Given the description of an element on the screen output the (x, y) to click on. 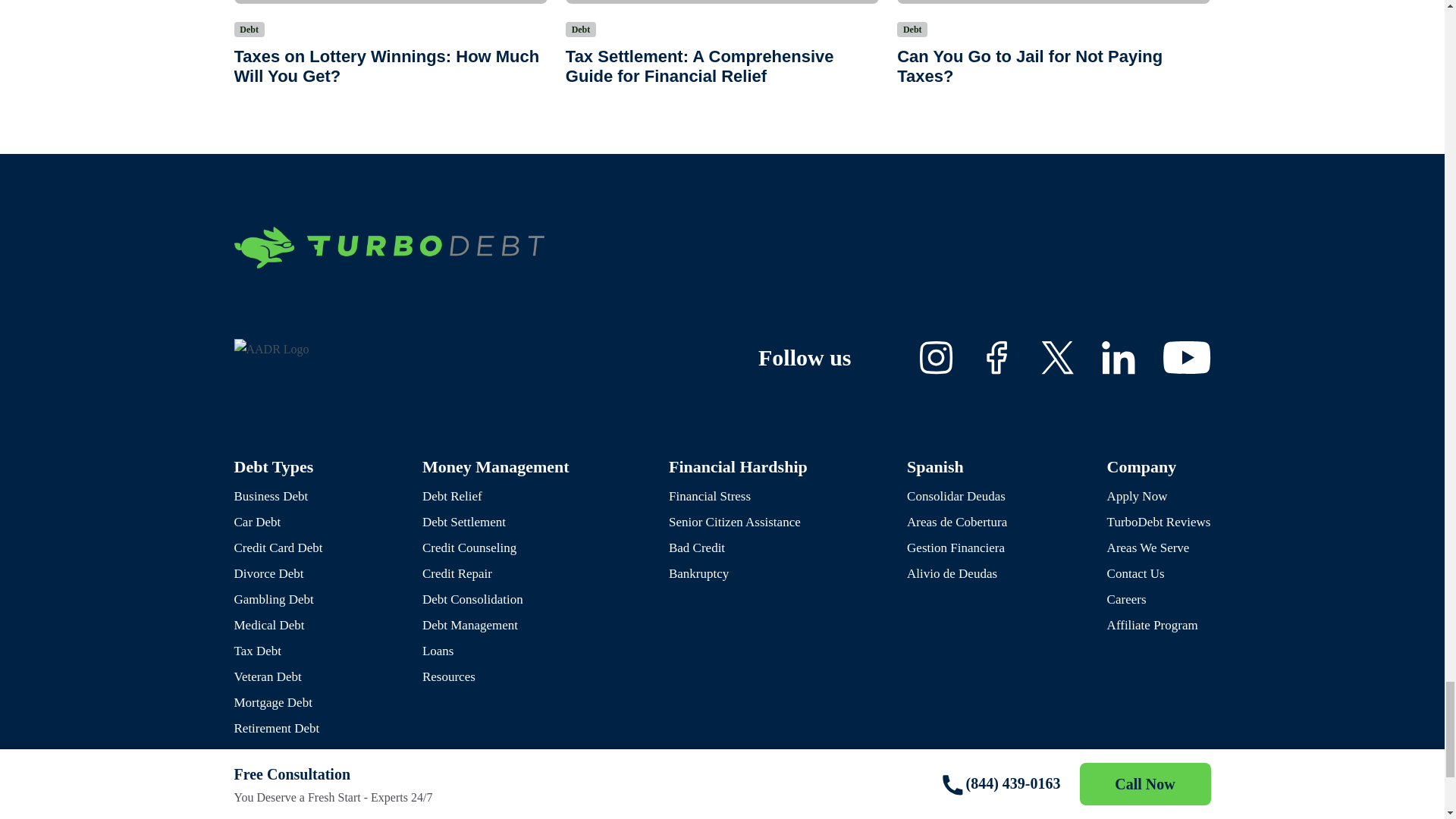
Can You Go to Jail for Not Paying Taxes? (1052, 2)
TurboDebt Logo (387, 247)
AADR Logo (270, 349)
Taxes on Lottery Winnings: How Much Will You Get? (389, 2)
Tax Settlement: A Comprehensive Guide for Financial Relief (722, 2)
